Given the description of an element on the screen output the (x, y) to click on. 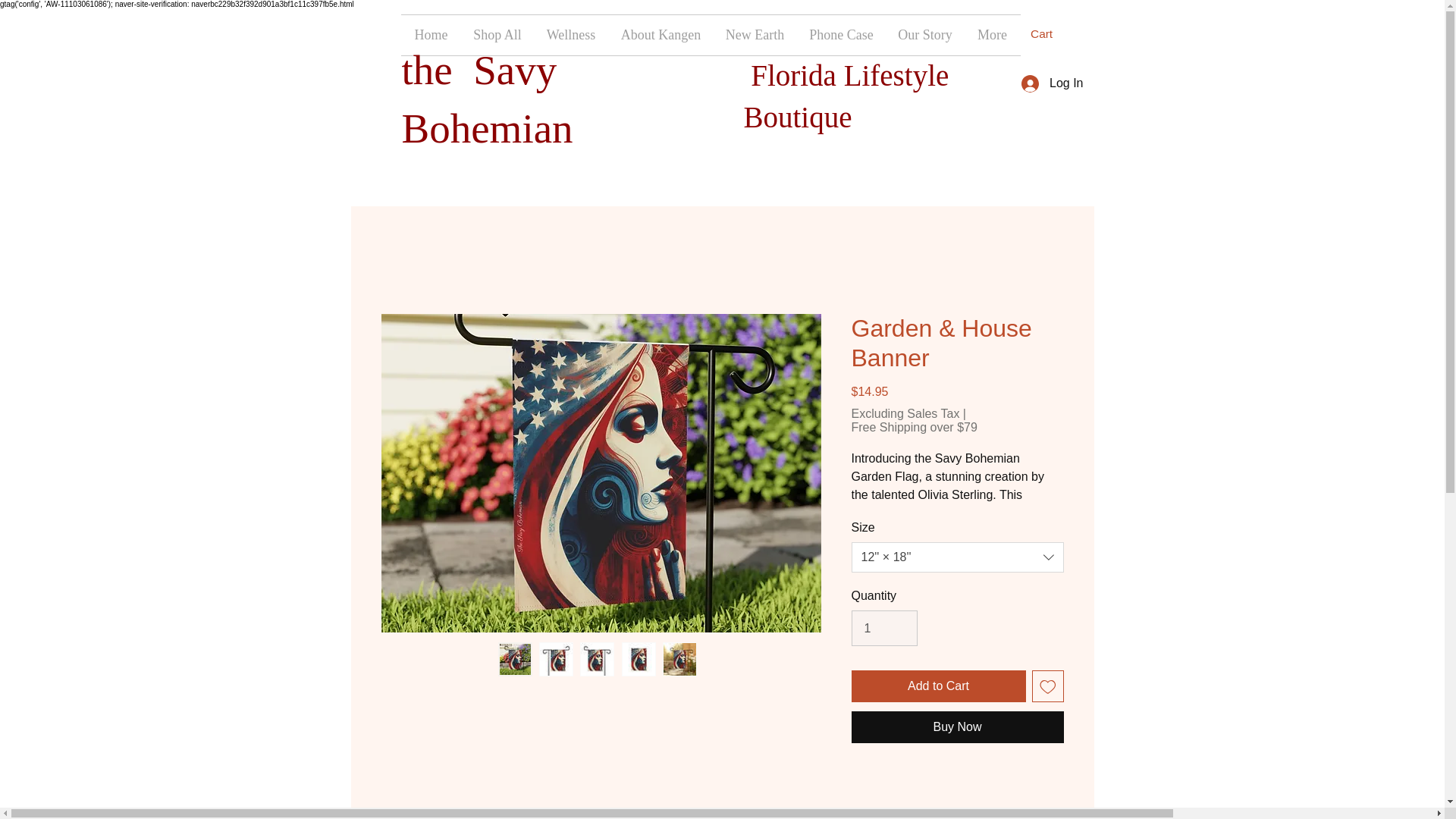
Our Story (924, 35)
New Earth (754, 35)
1 (883, 627)
Home (430, 35)
Cart (1050, 33)
About Kangen (660, 35)
Shop All (496, 35)
Log In (1051, 82)
Wellness (571, 35)
Phone Case (840, 35)
